Given the description of an element on the screen output the (x, y) to click on. 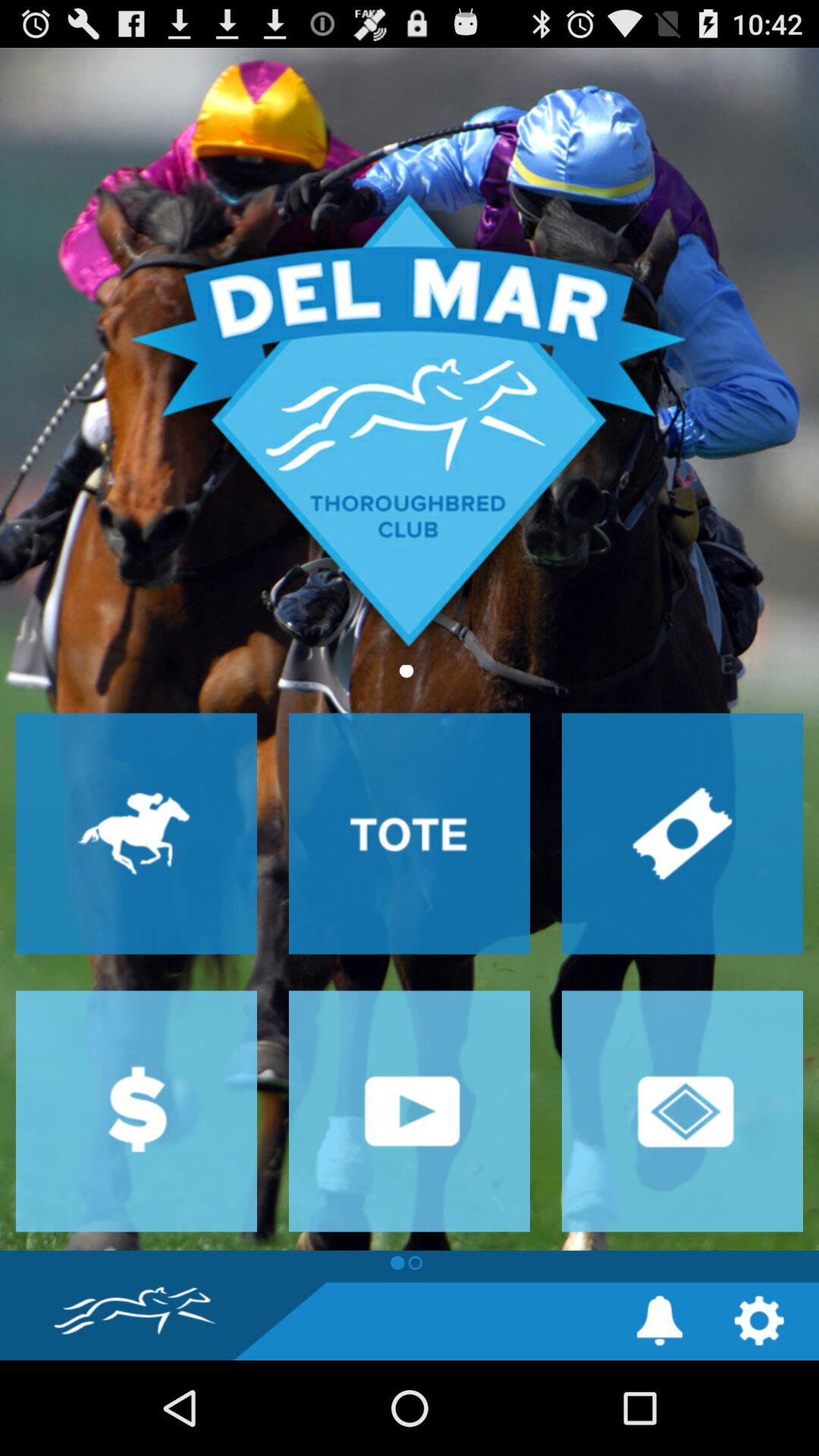
races (136, 833)
